Given the description of an element on the screen output the (x, y) to click on. 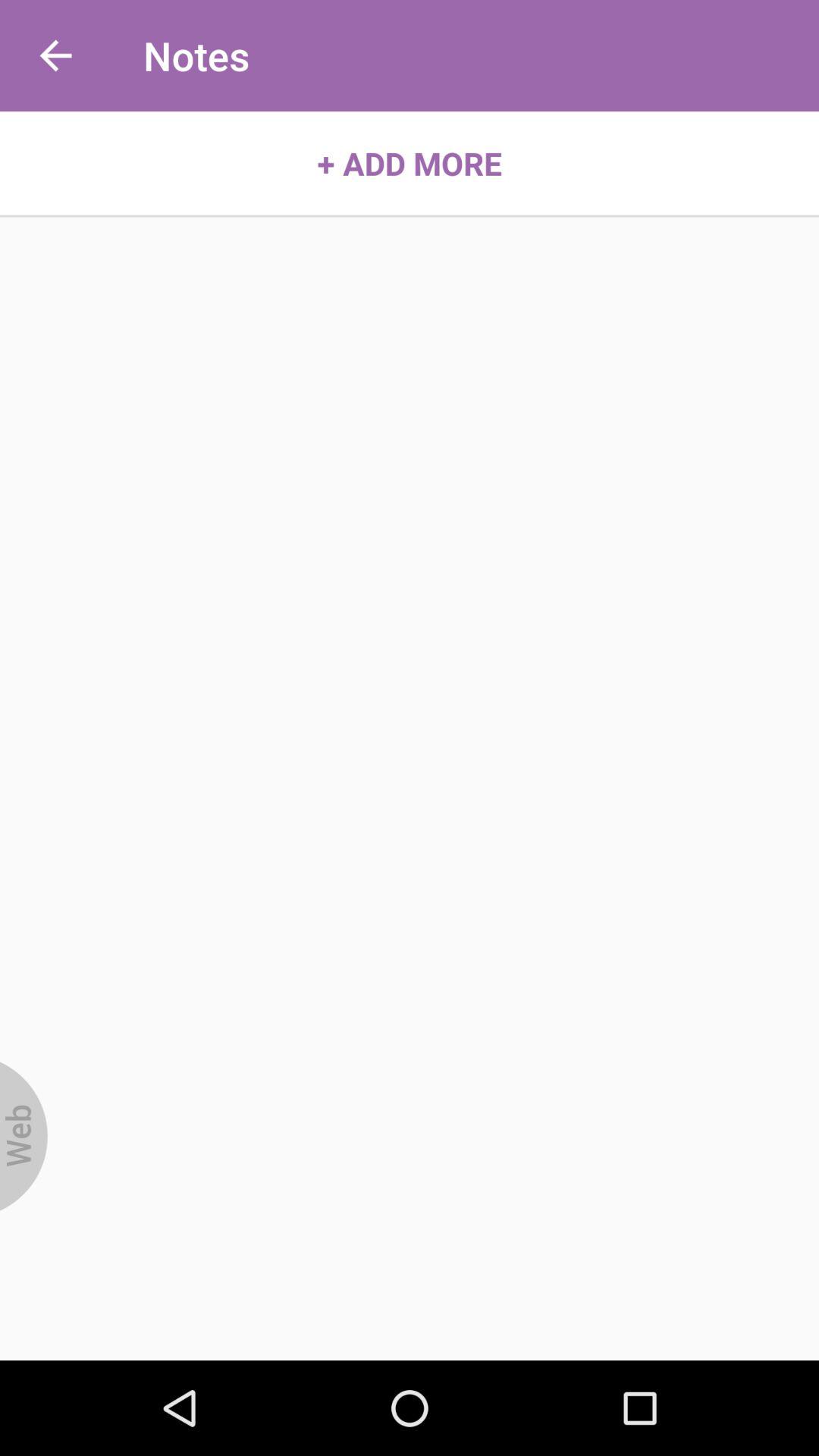
visit the web (23, 1135)
